Given the description of an element on the screen output the (x, y) to click on. 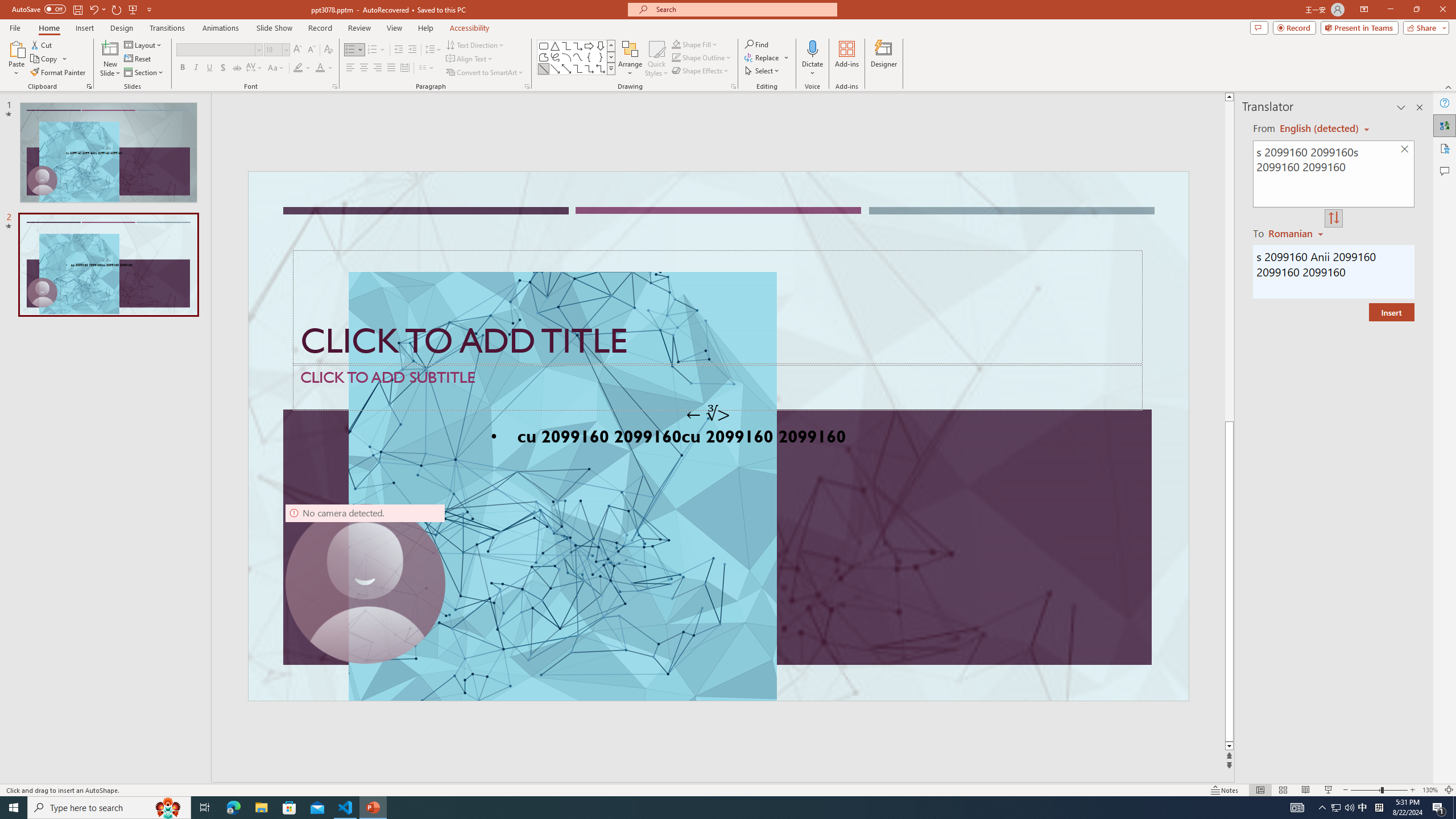
Shape Outline Green, Accent 1 (675, 56)
An abstract genetic concept (718, 436)
